Given the description of an element on the screen output the (x, y) to click on. 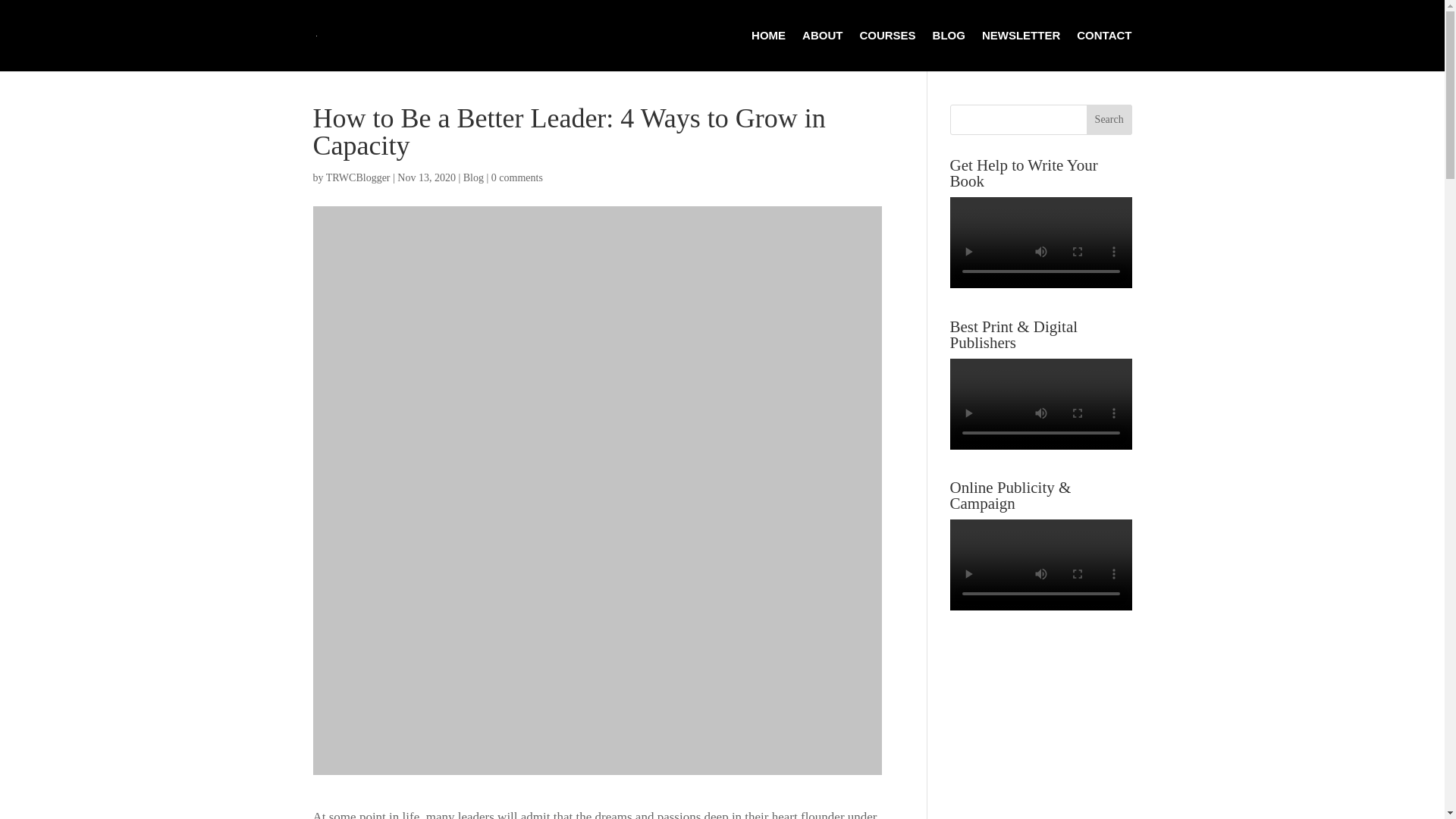
Search (1109, 119)
COURSES (887, 50)
Search (1109, 119)
Posts by TRWCBlogger (358, 177)
ABOUT (822, 50)
TRWCBlogger (358, 177)
Blog (473, 177)
Take Action Now! (282, 15)
0 comments (517, 177)
CONTACT (1104, 50)
